Given the description of an element on the screen output the (x, y) to click on. 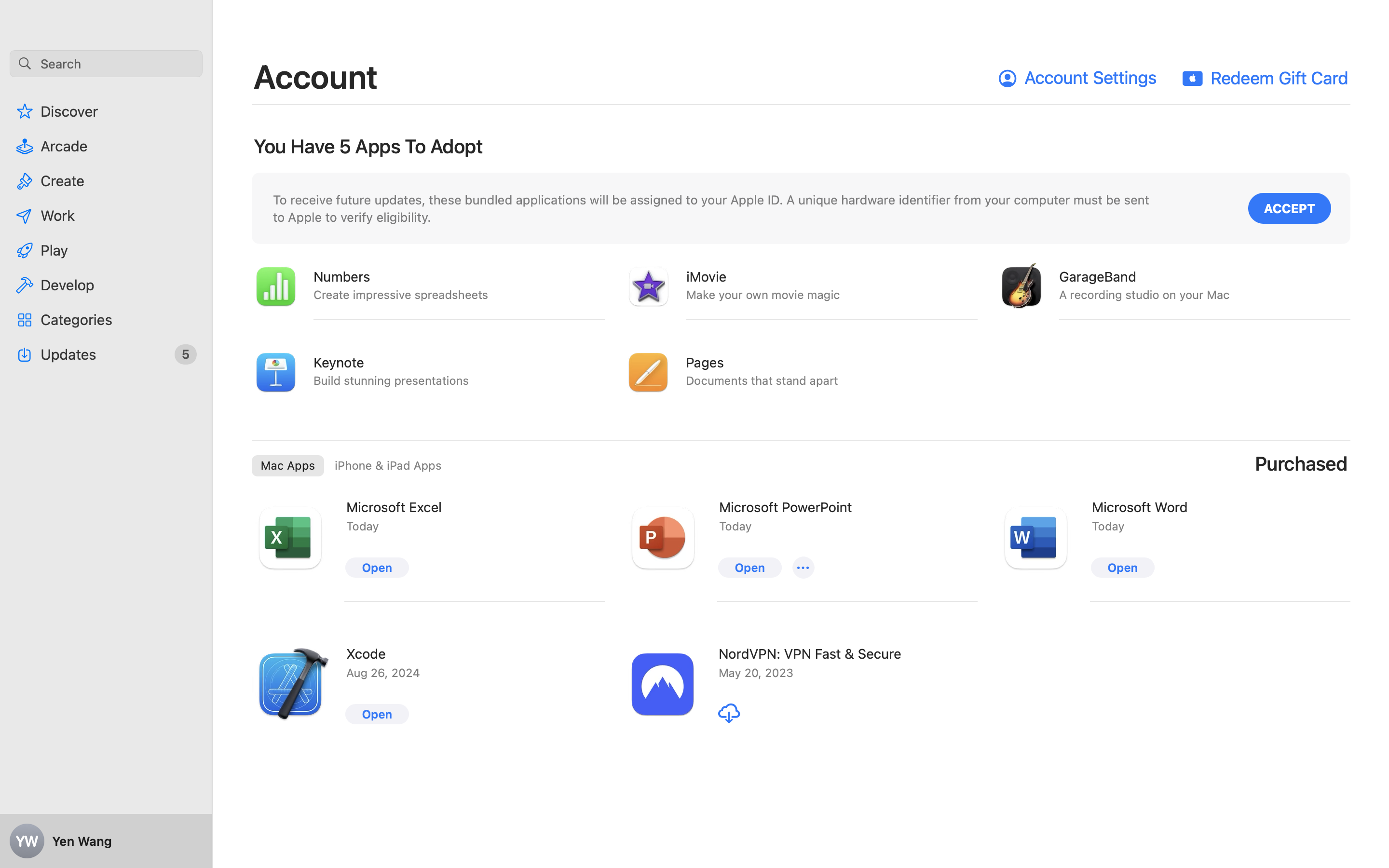
You Have 5 Apps To Adopt Element type: AXStaticText (368, 146)
Account Element type: AXStaticText (316, 75)
Yen Wang Element type: AXButton (106, 840)
Purchased Element type: AXStaticText (1301, 463)
